Given the description of an element on the screen output the (x, y) to click on. 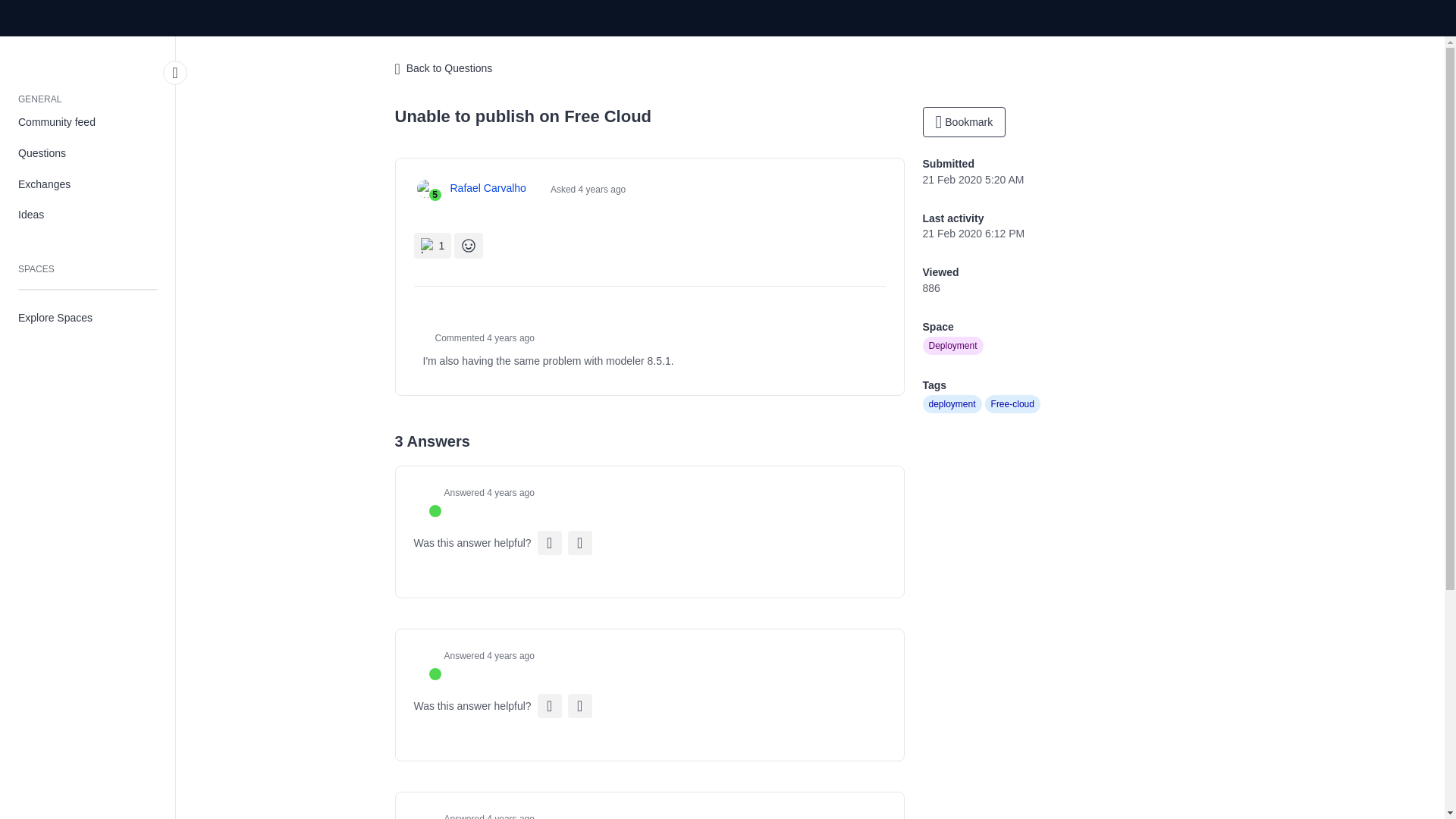
Bookmark (963, 122)
Deployment (951, 345)
1 (432, 245)
Back to Questions (443, 68)
Ideas (87, 214)
Rafael Carvalho (487, 188)
Collapse Menu (175, 72)
Explore Spaces (87, 317)
Community feed (87, 122)
Questions (87, 153)
